Given the description of an element on the screen output the (x, y) to click on. 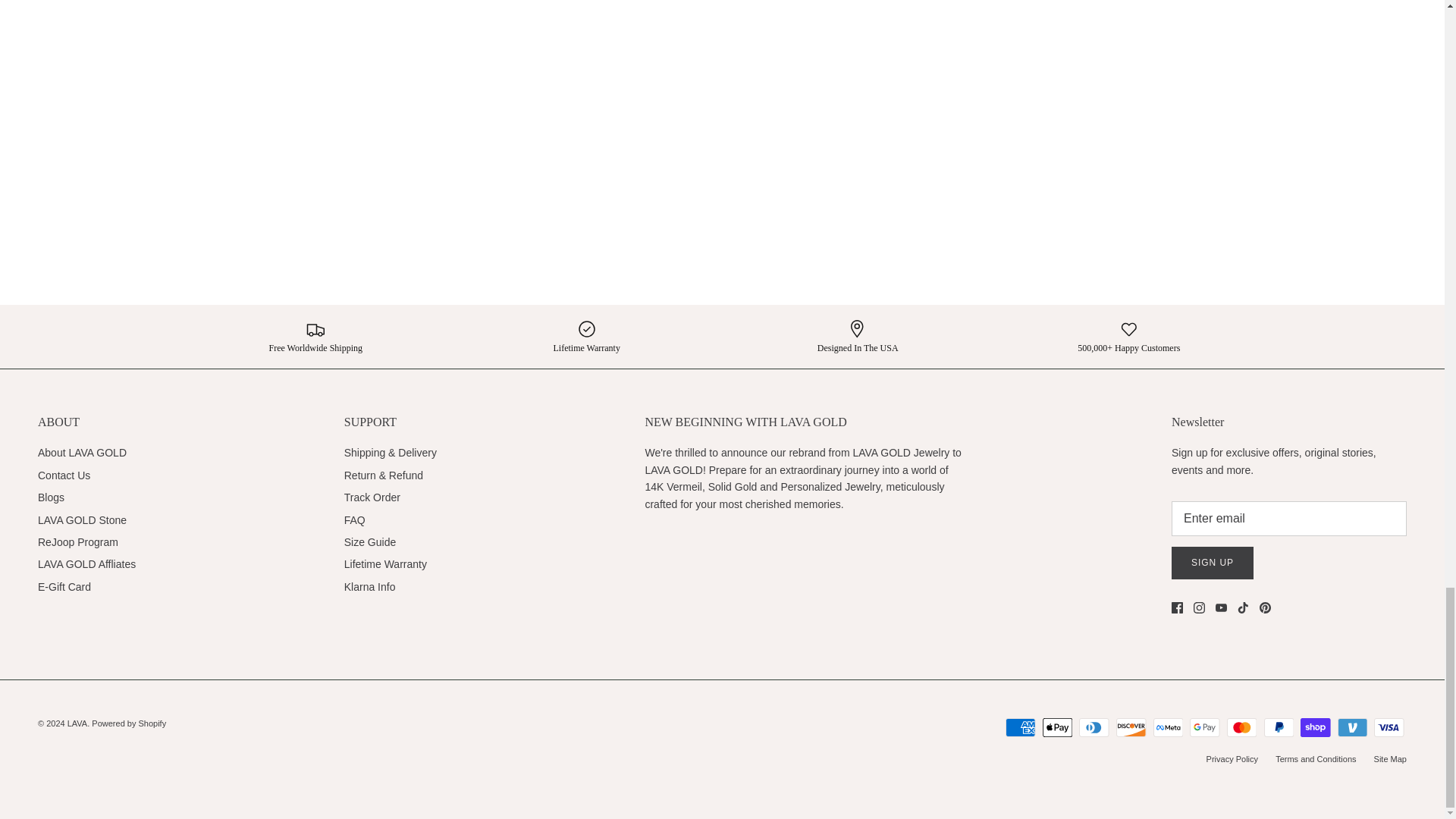
Facebook (1177, 607)
Google Pay (1204, 727)
Meta Pay (1168, 727)
Youtube (1221, 607)
Mastercard (1241, 727)
Diners Club (1093, 727)
Pinterest (1265, 607)
Discover (1130, 727)
Shop Pay (1315, 727)
Apple Pay (1057, 727)
Instagram (1199, 607)
PayPal (1277, 727)
Visa (1388, 727)
American Express (1020, 727)
Venmo (1352, 727)
